Given the description of an element on the screen output the (x, y) to click on. 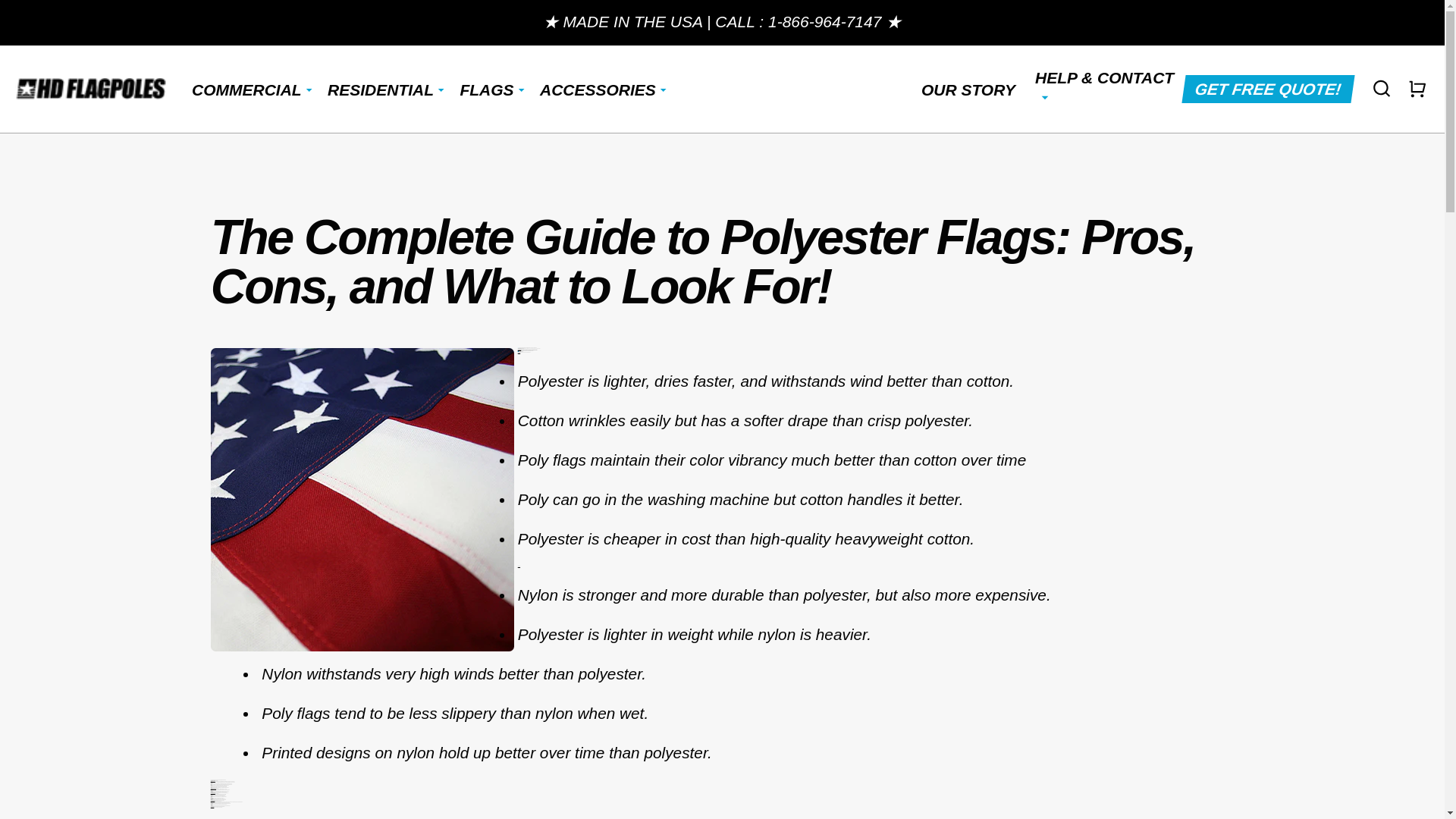
COMMERCIAL (246, 89)
1-866-964-7147 (824, 21)
RESIDENTIAL (380, 89)
GET FREE QUOTE! (1266, 89)
ACCESSORIES (598, 89)
COMMERCIAL (246, 89)
Our Story (967, 89)
RESIDENTIAL (380, 89)
FLAGS (486, 89)
